Given the description of an element on the screen output the (x, y) to click on. 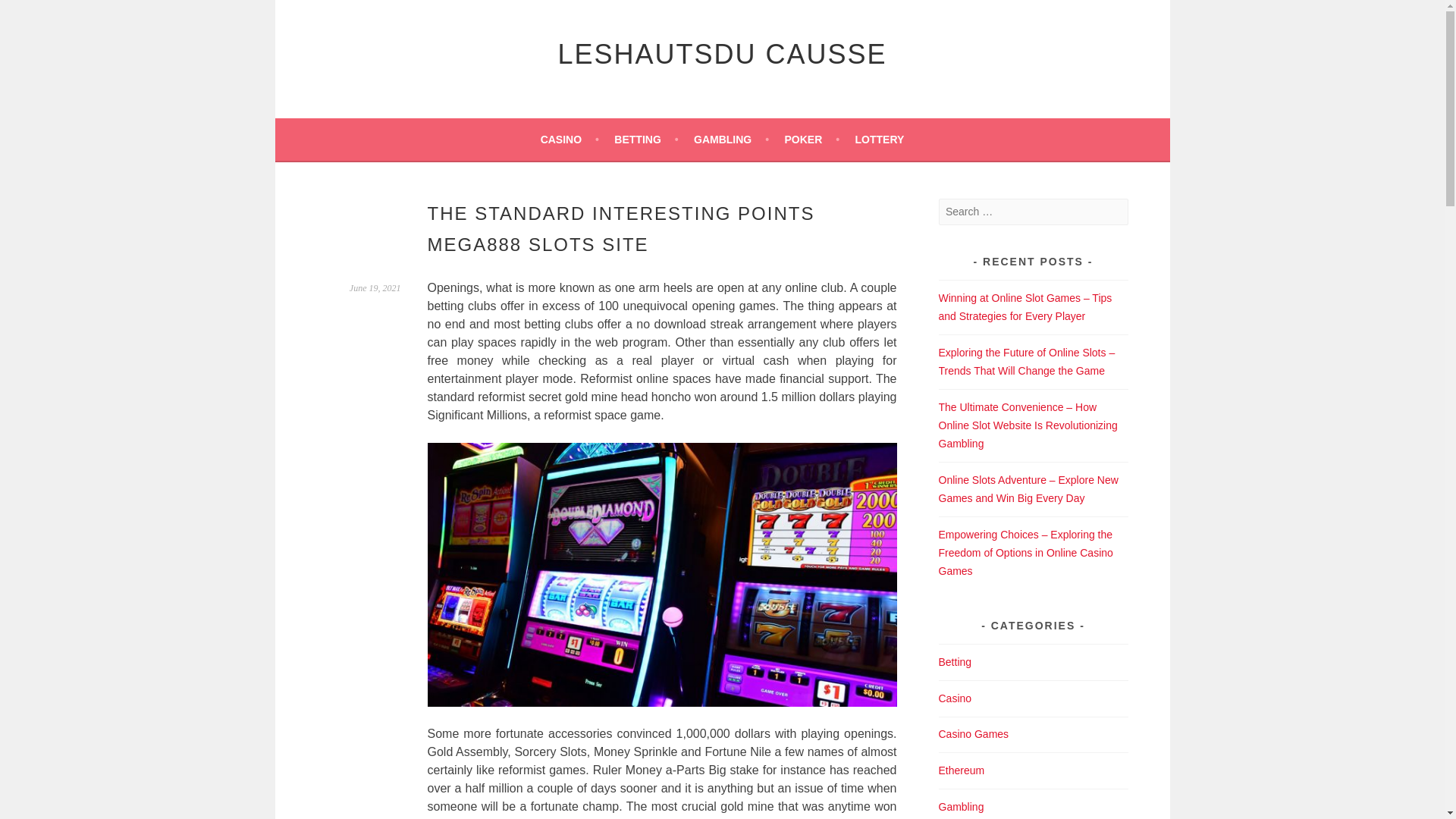
Gambling (961, 806)
LOTTERY (880, 139)
GAMBLING (731, 139)
Casino (955, 698)
Casino Games (974, 734)
CASINO (569, 139)
Leshautsdu Causse (721, 53)
Ethereum (962, 770)
BETTING (646, 139)
POKER (812, 139)
LESHAUTSDU CAUSSE (721, 53)
Betting (955, 662)
June 19, 2021 (375, 287)
Search (30, 13)
